Given the description of an element on the screen output the (x, y) to click on. 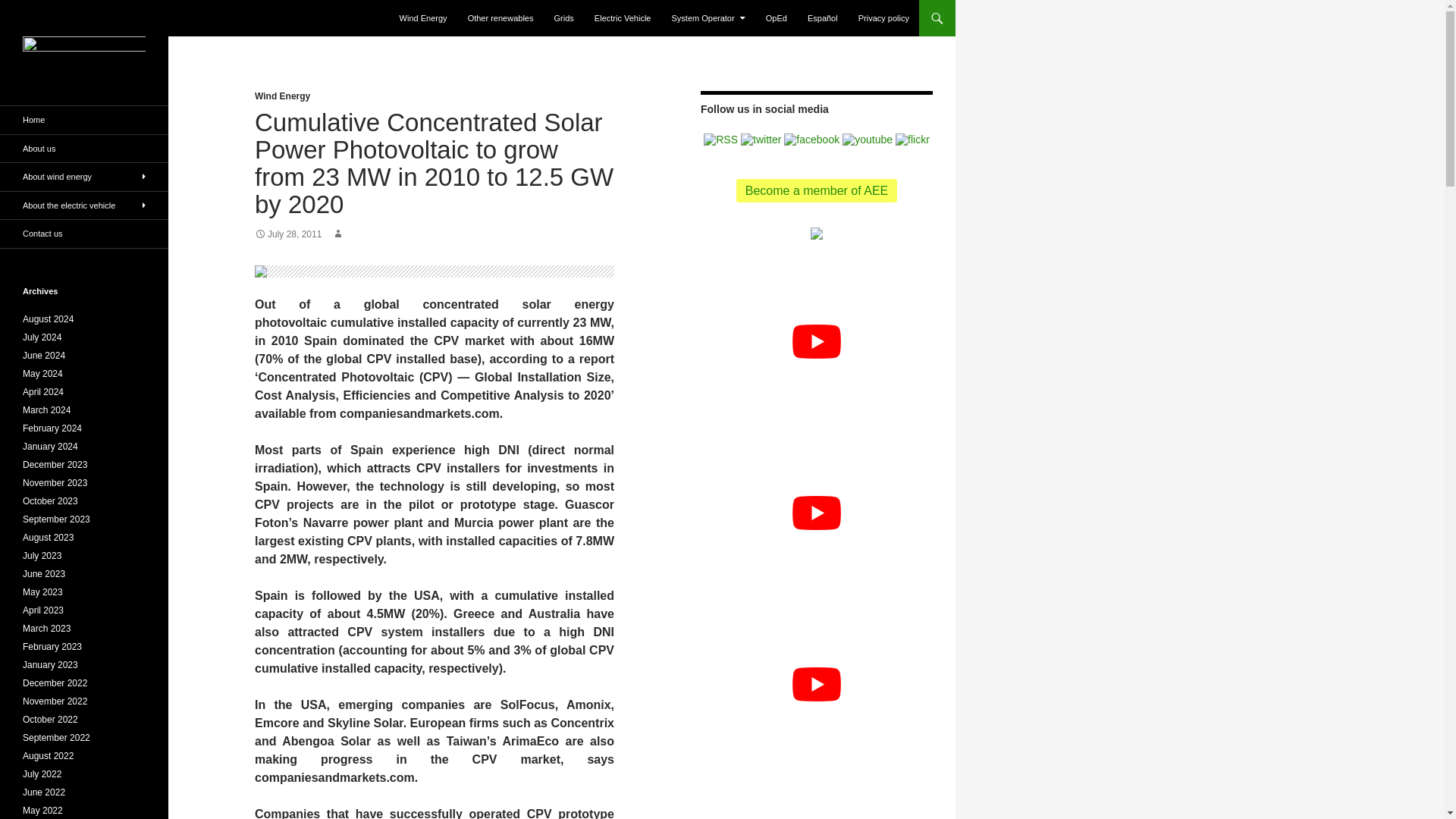
Privacy policy (883, 18)
Wind Energy (282, 95)
Become a member of AEE (817, 190)
twitter (760, 139)
flickr (912, 138)
Other renewables (500, 18)
flickr (912, 139)
RSS (720, 138)
twitter (761, 138)
youtube (867, 138)
Electric Vehicle (623, 18)
youtube (867, 139)
Wind Energy (423, 18)
facebook (812, 139)
Grids (563, 18)
